Given the description of an element on the screen output the (x, y) to click on. 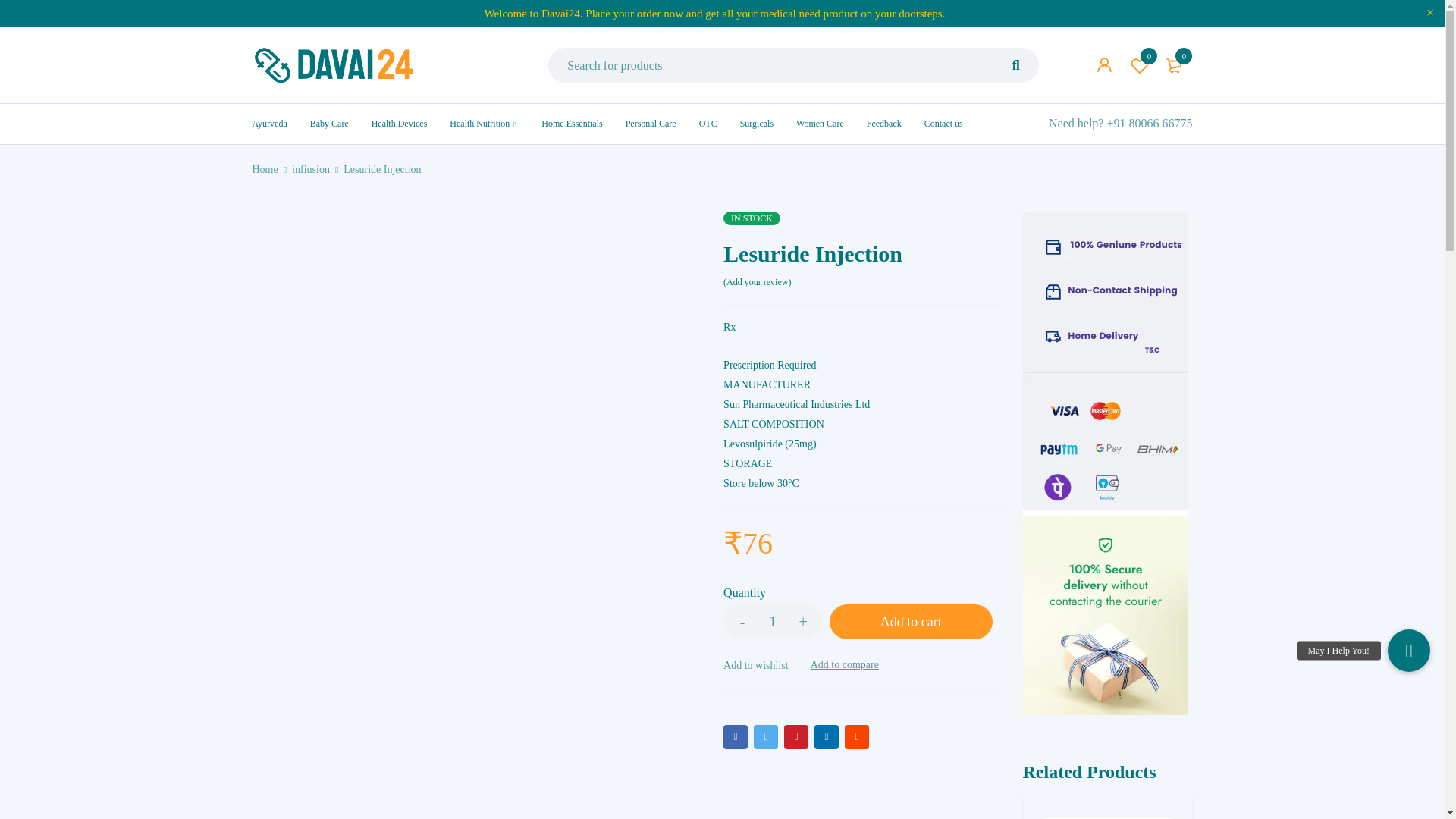
Feedback (883, 123)
Wishlist (1139, 64)
Health Nutrition (479, 123)
MyMedi (332, 65)
View your shopping cart (1174, 64)
Health Devices (399, 123)
Ayurveda (268, 123)
Home (264, 169)
Qty (1139, 64)
